Given the description of an element on the screen output the (x, y) to click on. 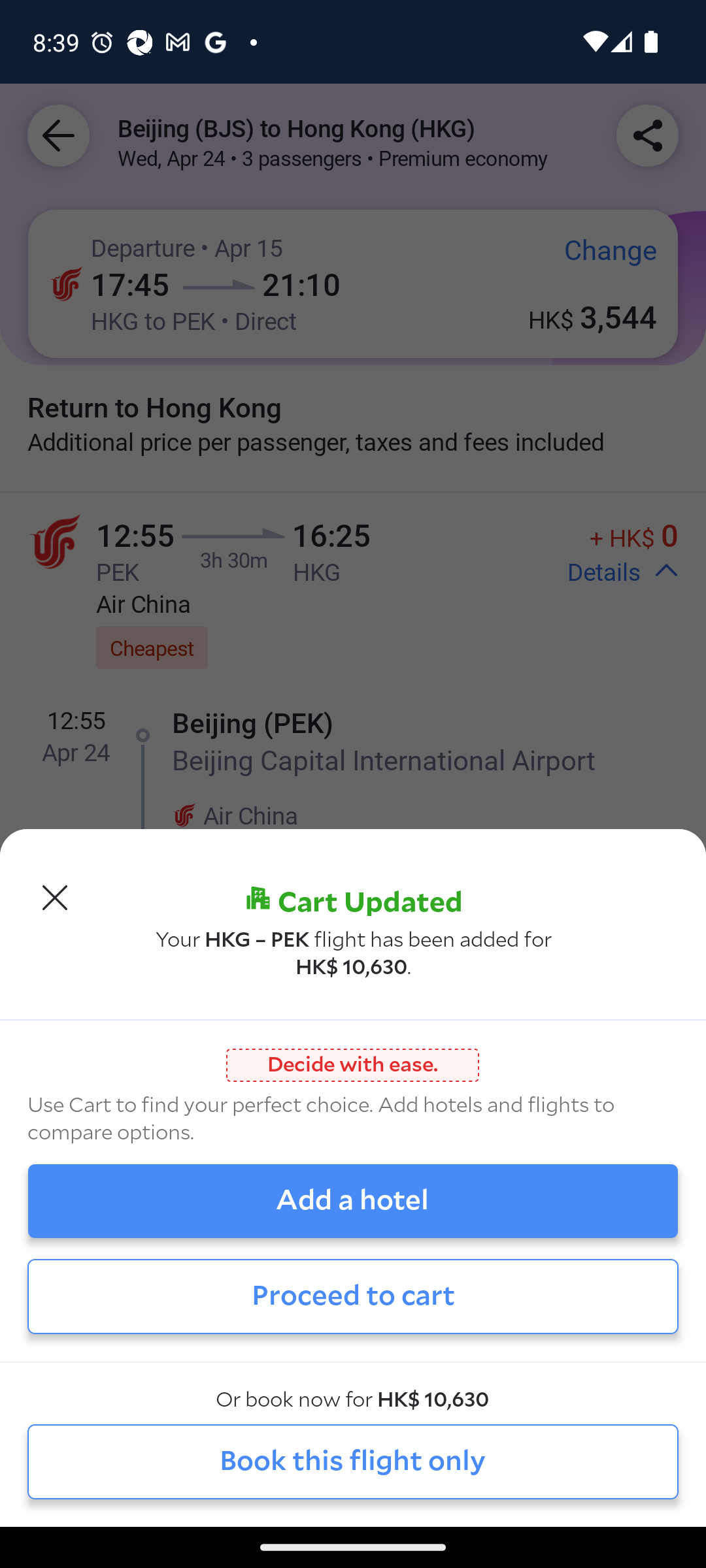
Add a hotel  Add a hotel (352, 1200)
Proceed to cart  Proceed to cart (352, 1296)
Book this flight only  Book this flight only (352, 1461)
